Given the description of an element on the screen output the (x, y) to click on. 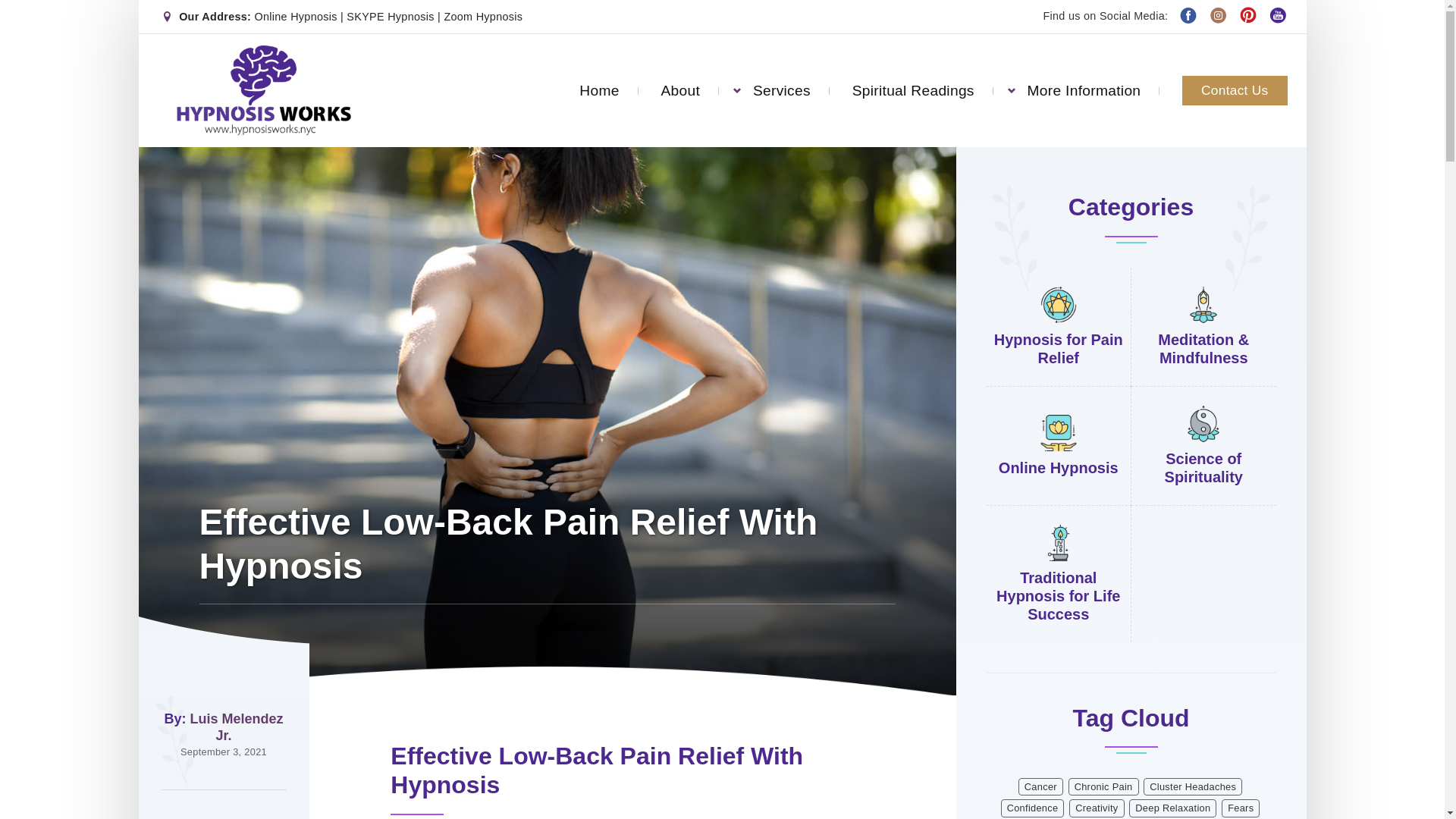
Contact Us (1234, 89)
Home (598, 80)
Spiritual Readings (912, 87)
More Information (1083, 87)
Services (781, 82)
Luis Melendez Jr. (235, 726)
About (680, 81)
